Given the description of an element on the screen output the (x, y) to click on. 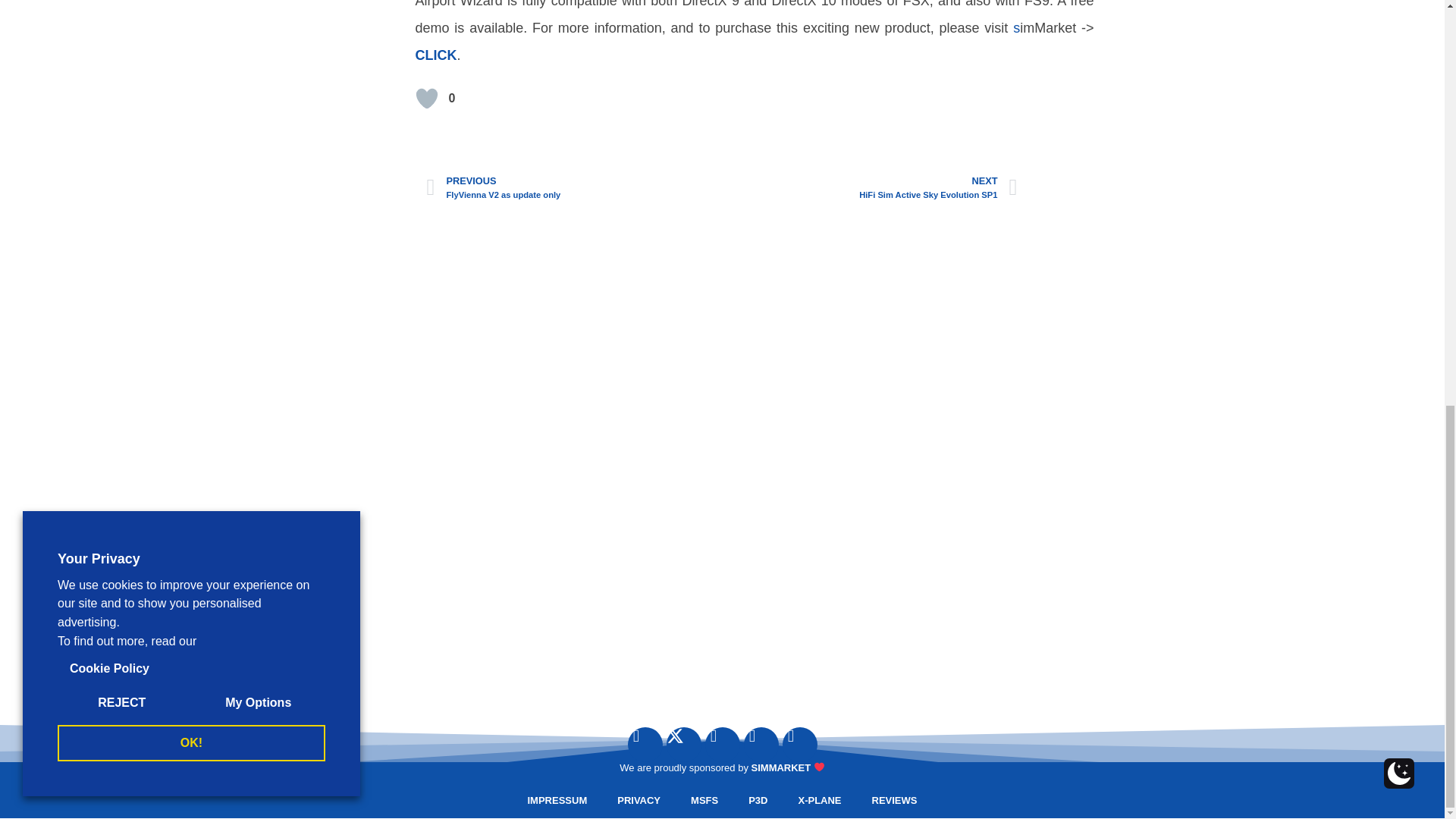
CLICK (435, 55)
